Given the description of an element on the screen output the (x, y) to click on. 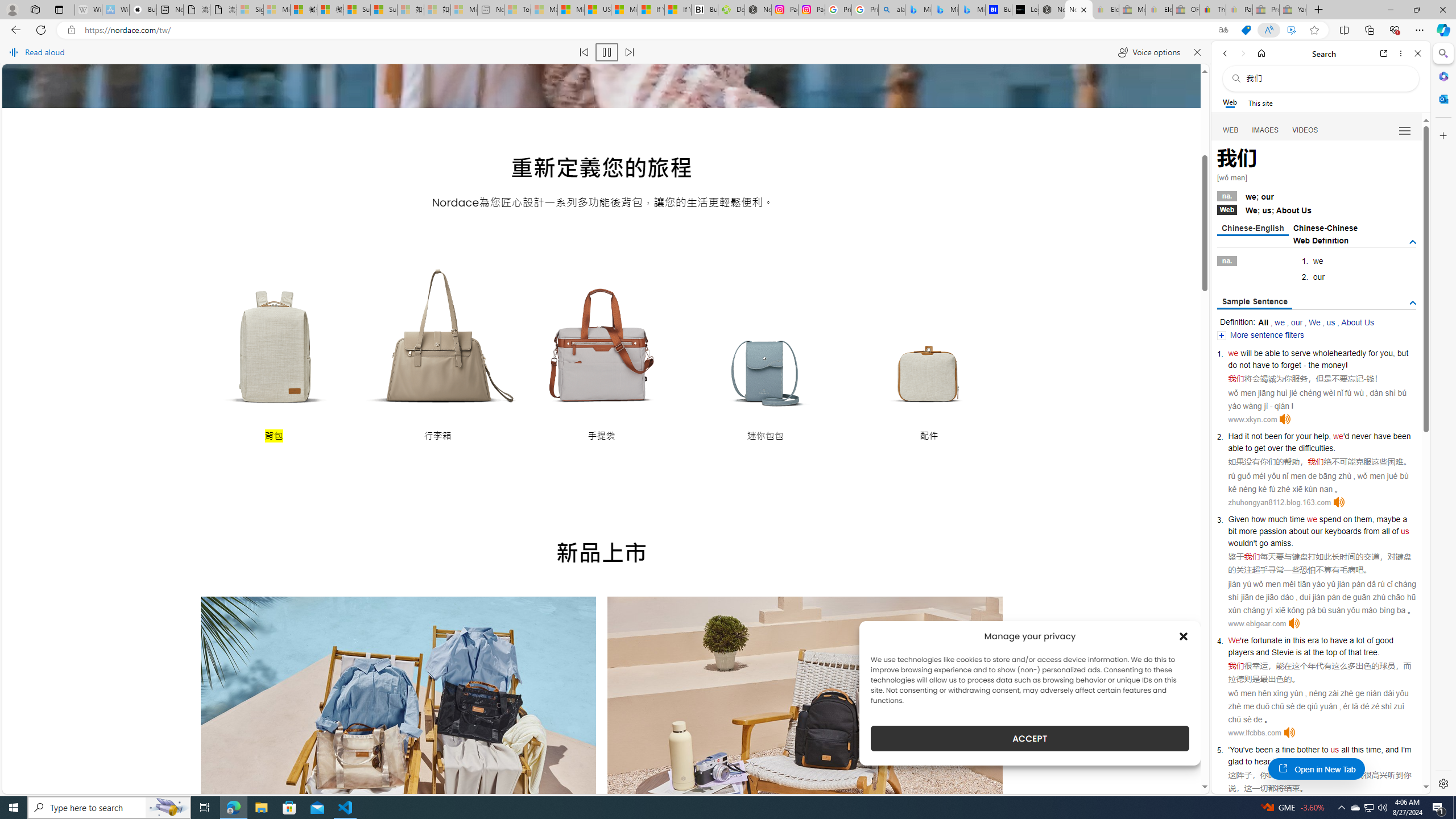
About Us (1357, 322)
Class: flickity-button-icon (977, 728)
Microsoft Bing Travel - Shangri-La Hotel Bangkok (971, 9)
www.lfcbbs.com (1254, 732)
Payments Terms of Use | eBay.com - Sleeping (1239, 9)
wholeheartedly (1340, 352)
serve (1300, 352)
Previous (225, 780)
